Given the description of an element on the screen output the (x, y) to click on. 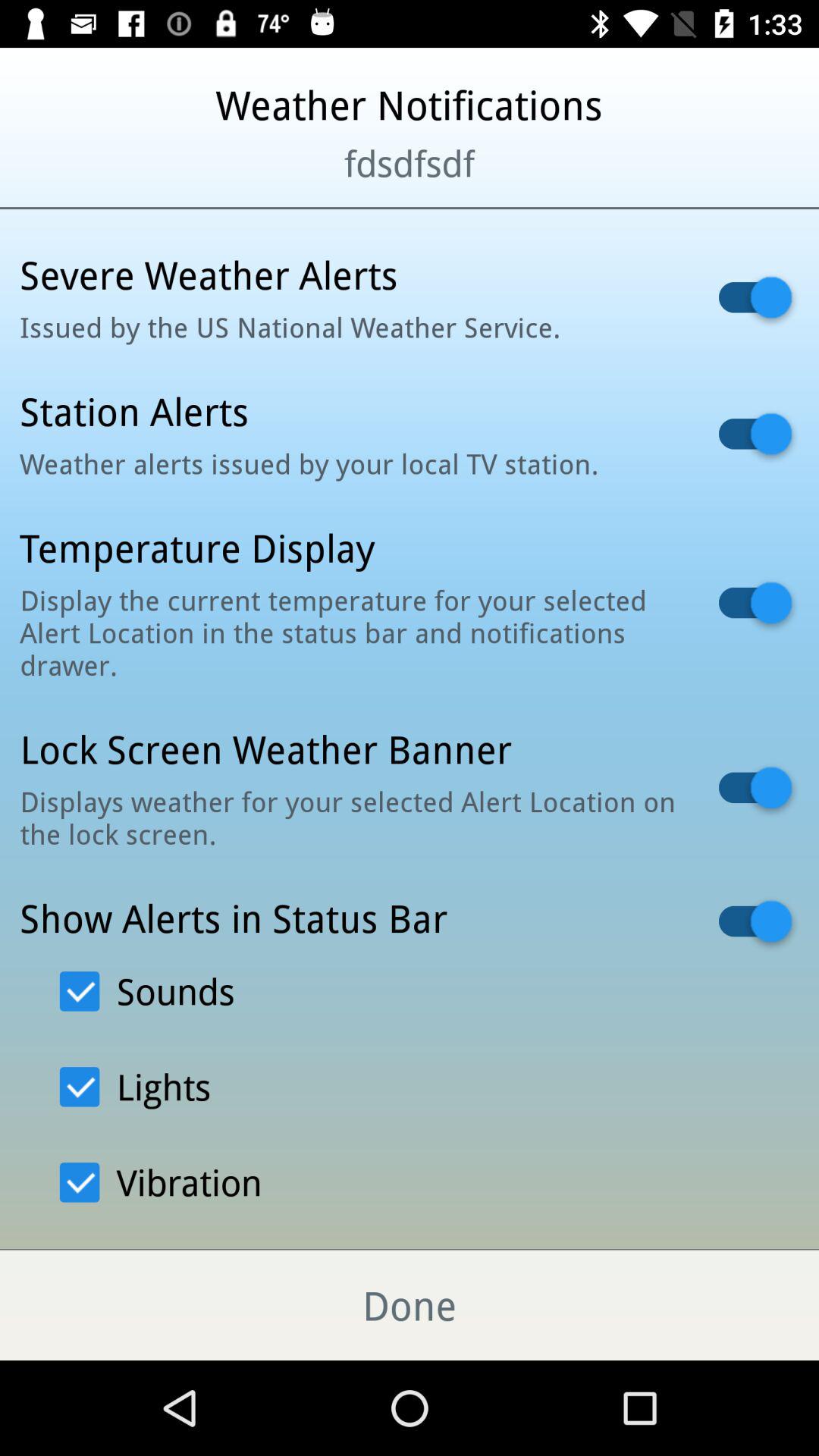
swipe to display the current icon (349, 632)
